Given the description of an element on the screen output the (x, y) to click on. 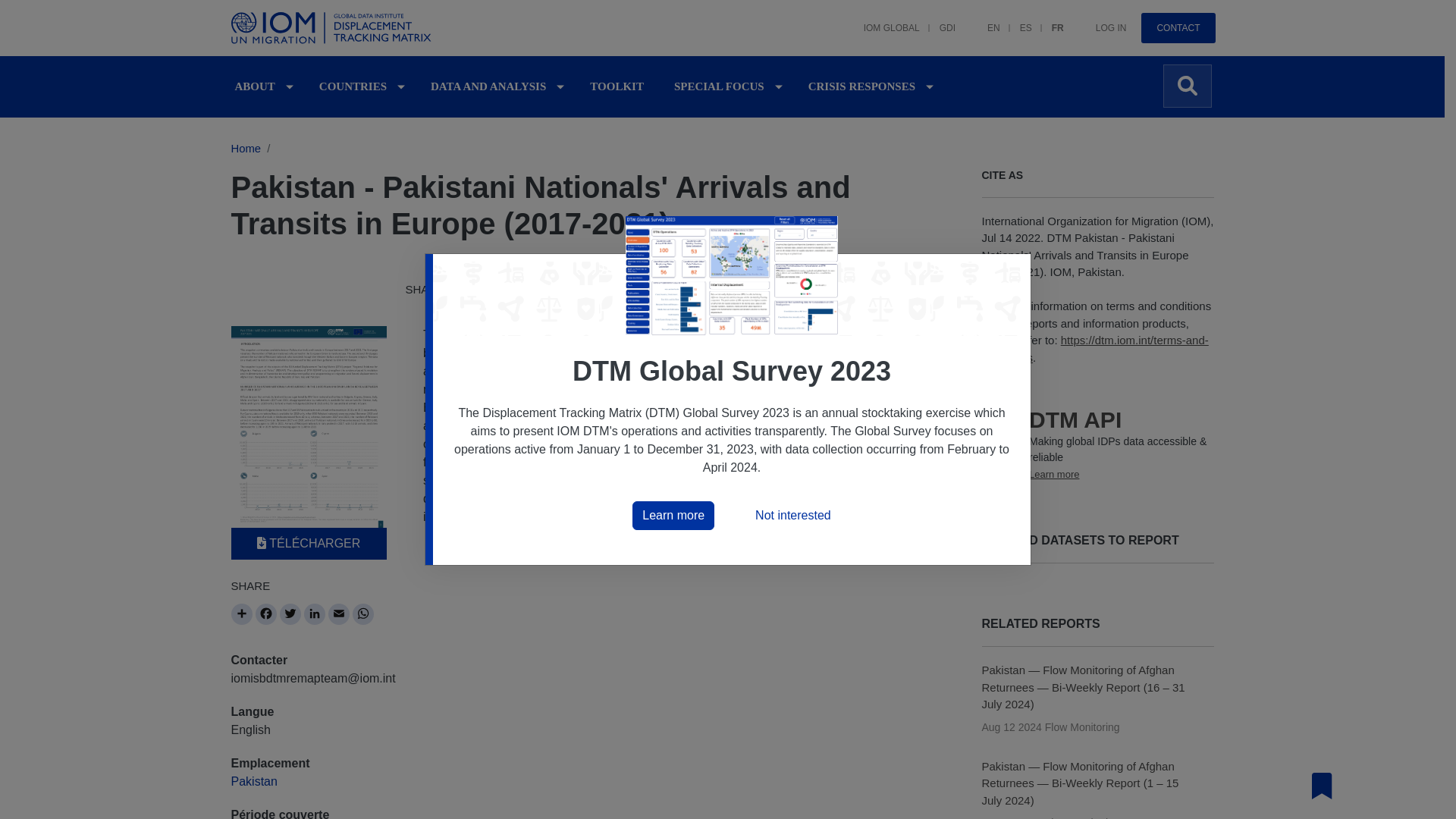
ES (1016, 19)
LOG IN (1100, 19)
Home (333, 28)
IOM GLOBAL (882, 19)
EN (984, 19)
GDI (937, 19)
FR (1048, 19)
ABOUT (254, 86)
CONTACT (1177, 28)
